Given the description of an element on the screen output the (x, y) to click on. 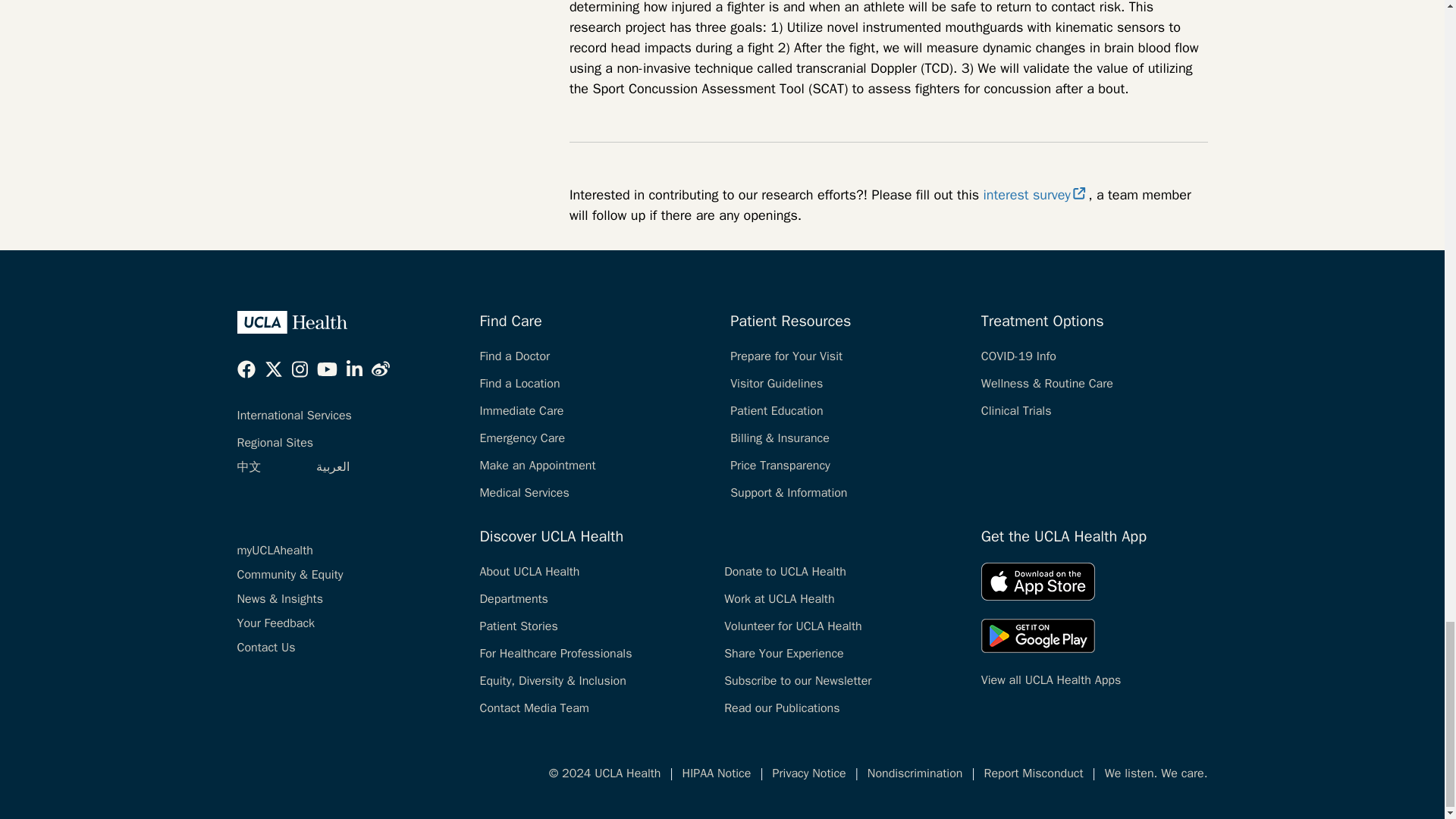
Link is external (1079, 193)
myUCLAhealth Login. (274, 549)
